Given the description of an element on the screen output the (x, y) to click on. 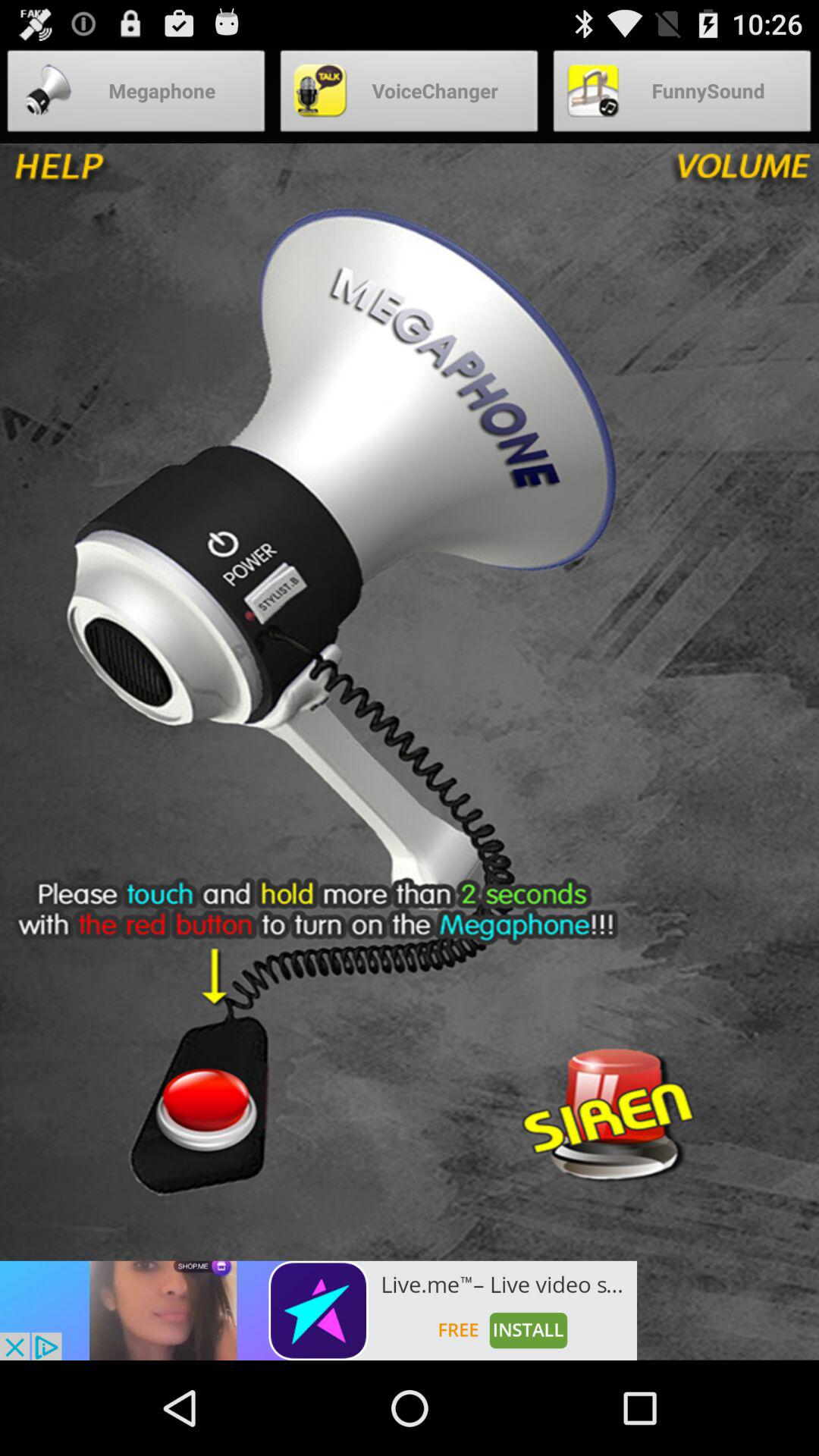
help (112, 173)
